Given the description of an element on the screen output the (x, y) to click on. 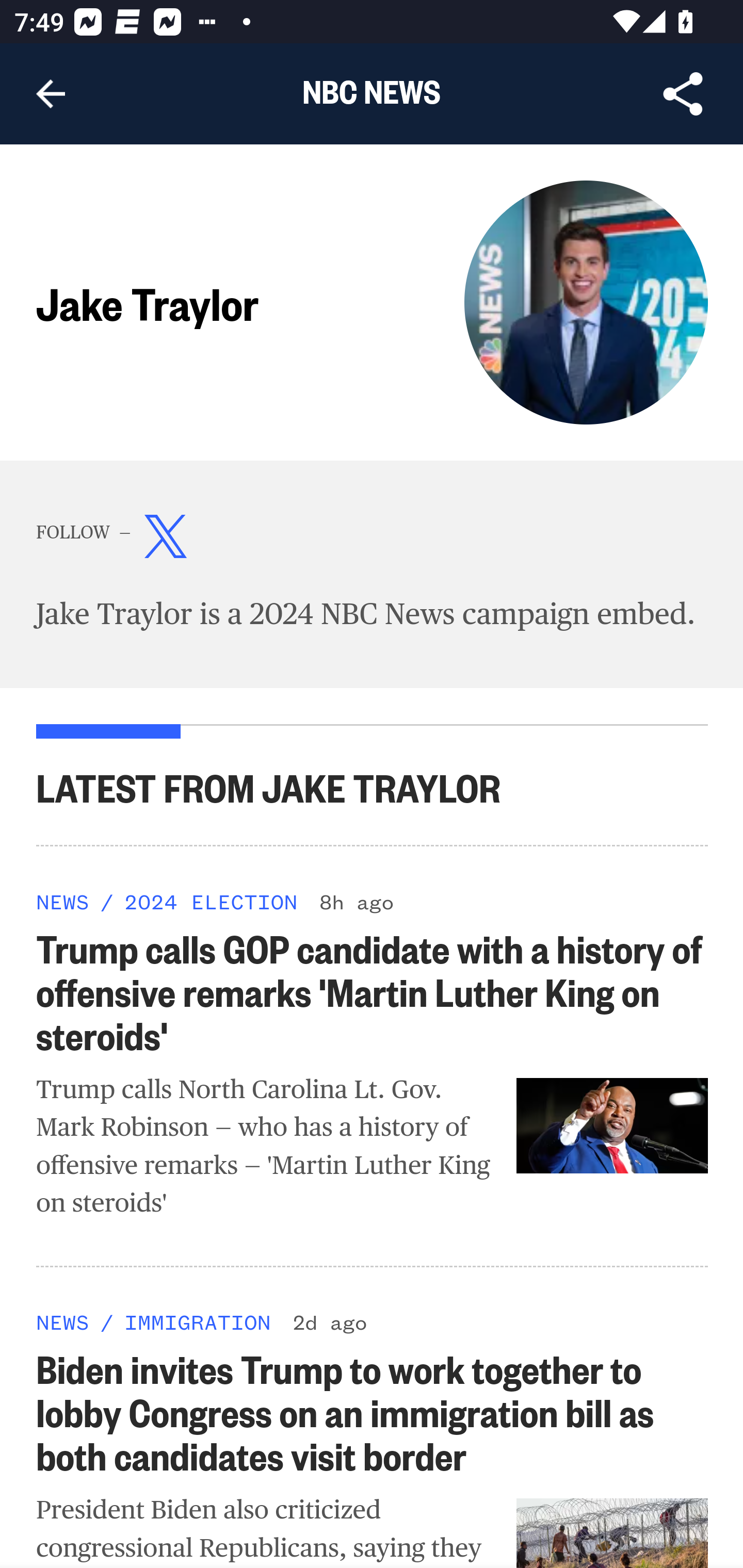
Navigate up (50, 93)
Share Article, button (683, 94)
 (165, 540)
NEWS NEWS NEWS (63, 900)
2024 ELECTION 2024 ELECTION 2024 ELECTION (209, 900)
NEWS NEWS NEWS (63, 1321)
IMMIGRATION IMMIGRATION IMMIGRATION (196, 1321)
